Given the description of an element on the screen output the (x, y) to click on. 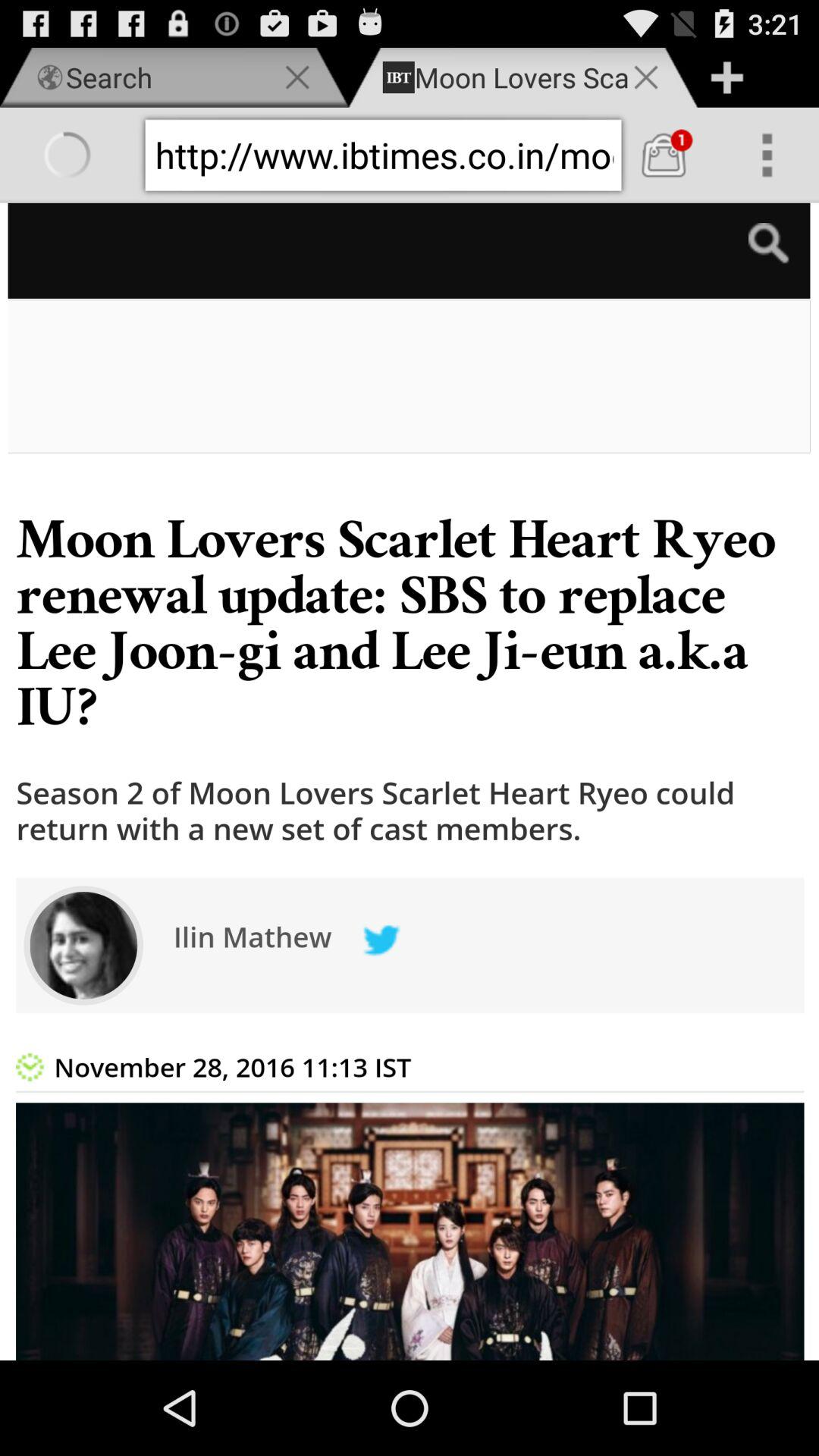
new tab (727, 77)
